Given the description of an element on the screen output the (x, y) to click on. 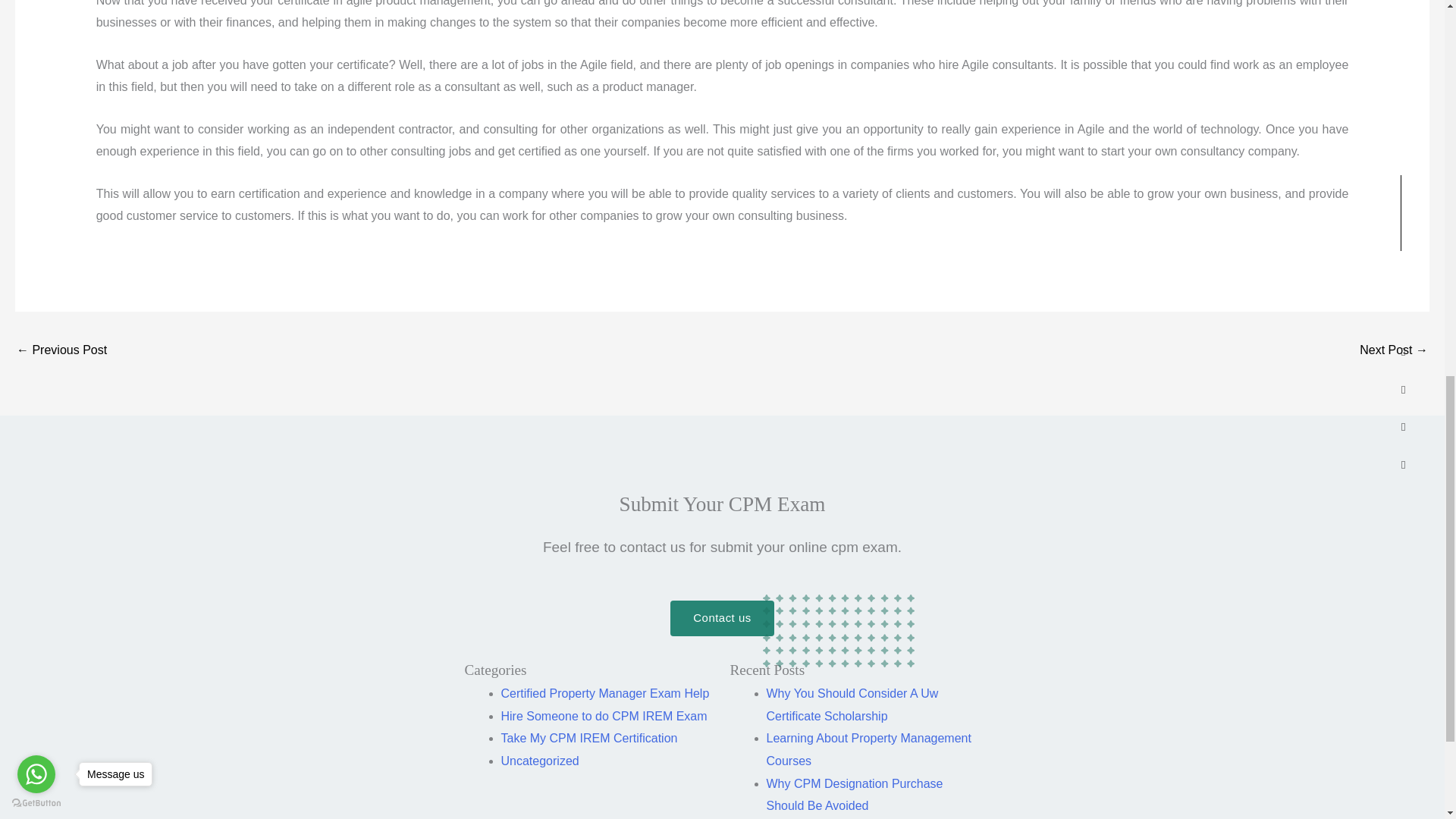
Why You Should Consider A Uw Certificate Scholarship (851, 704)
Benefits Of PRM Certification (61, 351)
Take My CPM IREM Certification (588, 738)
Learning About Property Management Courses (868, 749)
Certified Property Manager Exam Help (604, 693)
Why CPM Designation Purchase Should Be Avoided (853, 795)
Contact us (721, 618)
Hire Someone to do CPM IREM Exam (603, 716)
Uncategorized (539, 760)
Product Management Course Overview (1393, 351)
